Given the description of an element on the screen output the (x, y) to click on. 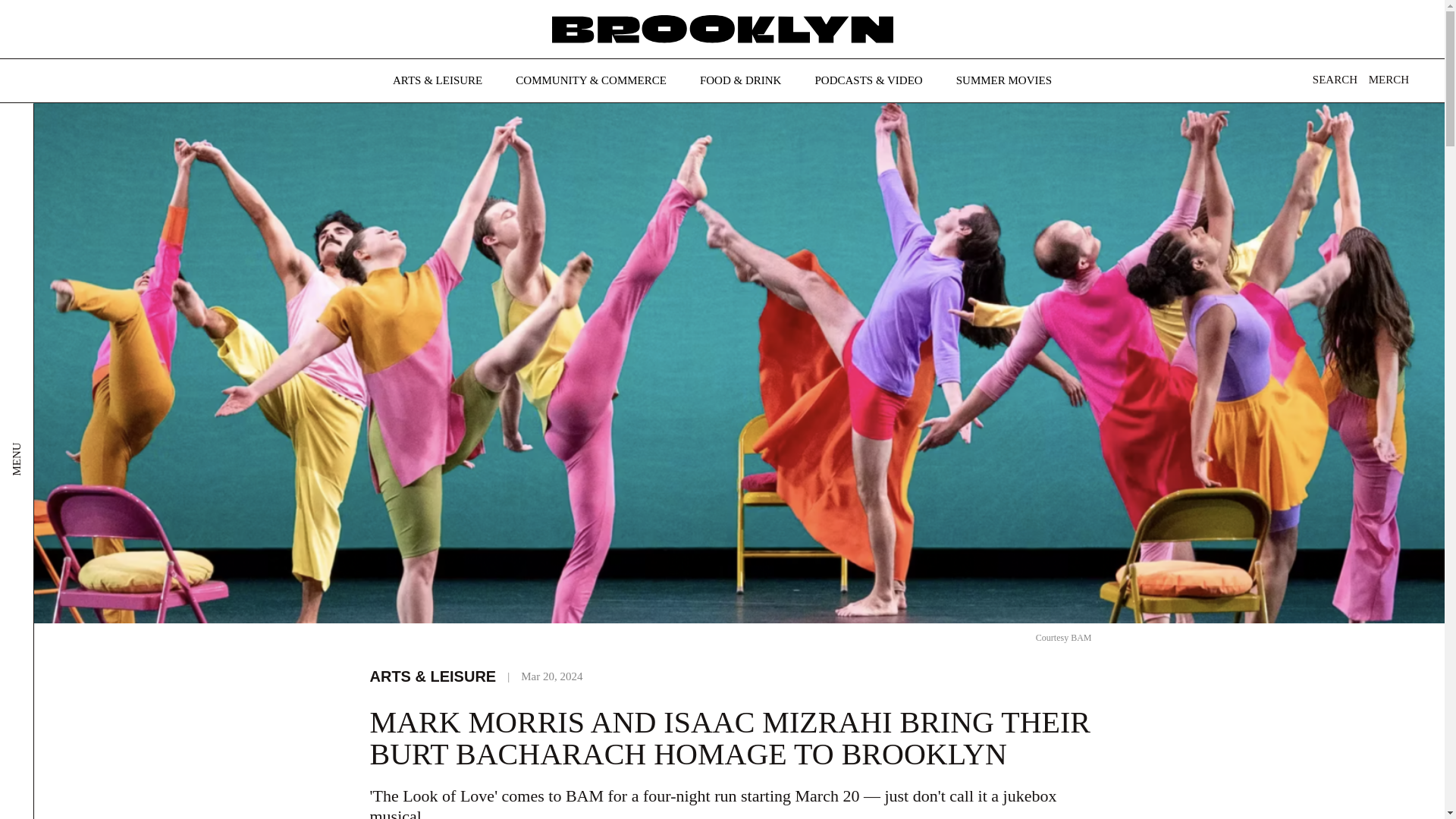
SEARCH (1330, 83)
MERCH (1388, 79)
SUMMER MOVIES (1003, 80)
